Given the description of an element on the screen output the (x, y) to click on. 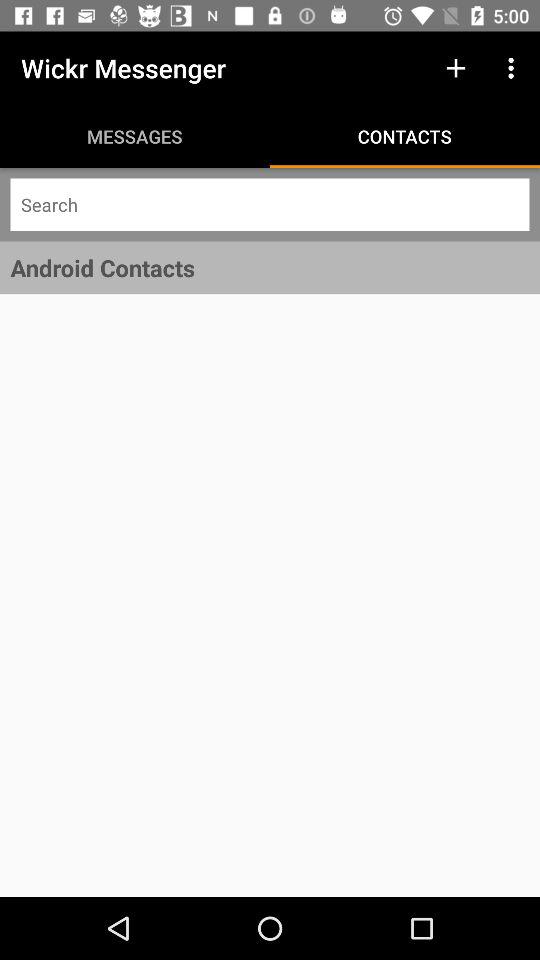
flip to the android contacts item (270, 267)
